Given the description of an element on the screen output the (x, y) to click on. 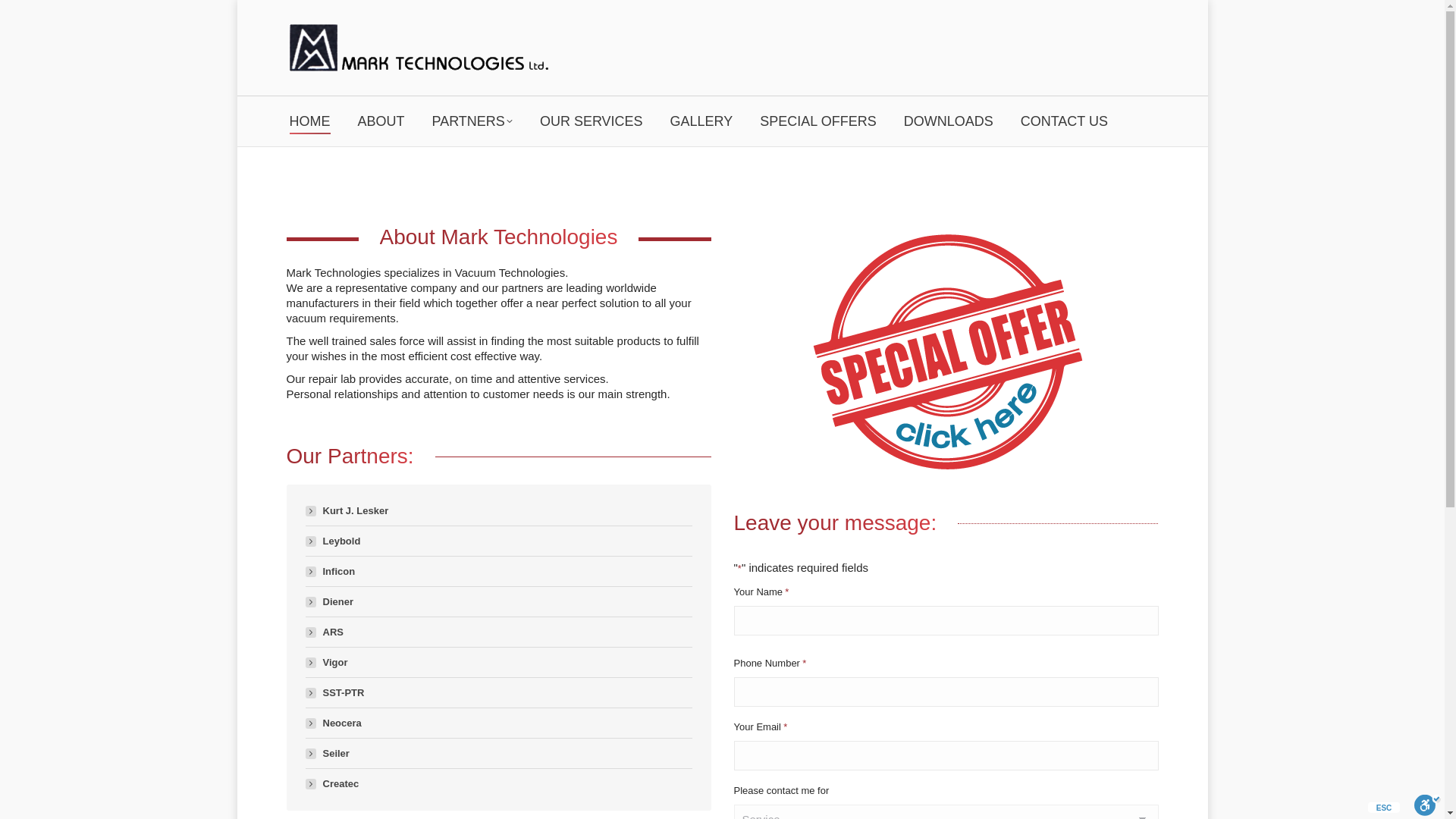
HOME (309, 120)
PARTNERS (472, 120)
ABOUT (381, 120)
DOWNLOADS (948, 120)
CONTACT US (1063, 120)
OUR SERVICES (591, 120)
offers-1 (945, 354)
GALLERY (701, 120)
SPECIAL OFFERS (818, 120)
